Given the description of an element on the screen output the (x, y) to click on. 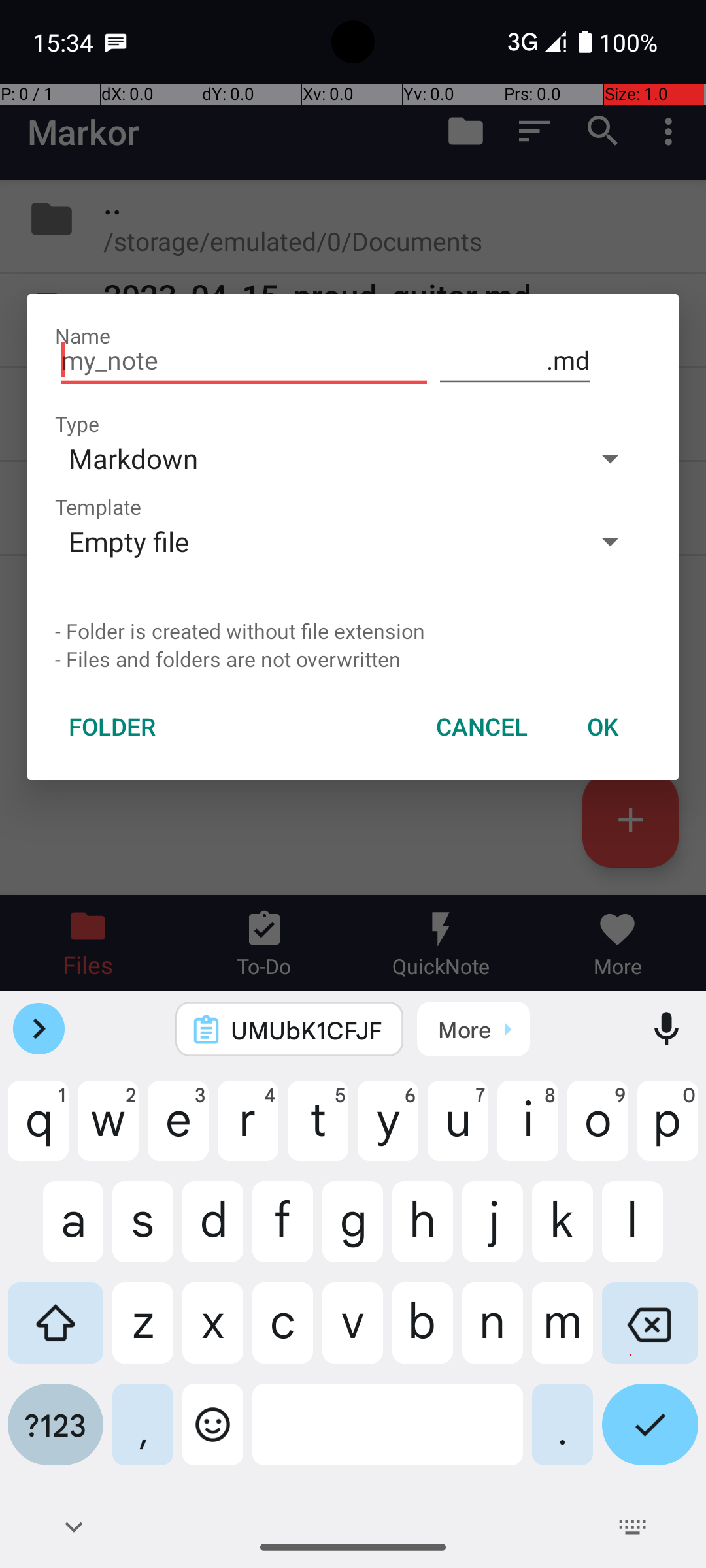
UMUbK1CFJF Element type: android.widget.TextView (306, 1029)
